Given the description of an element on the screen output the (x, y) to click on. 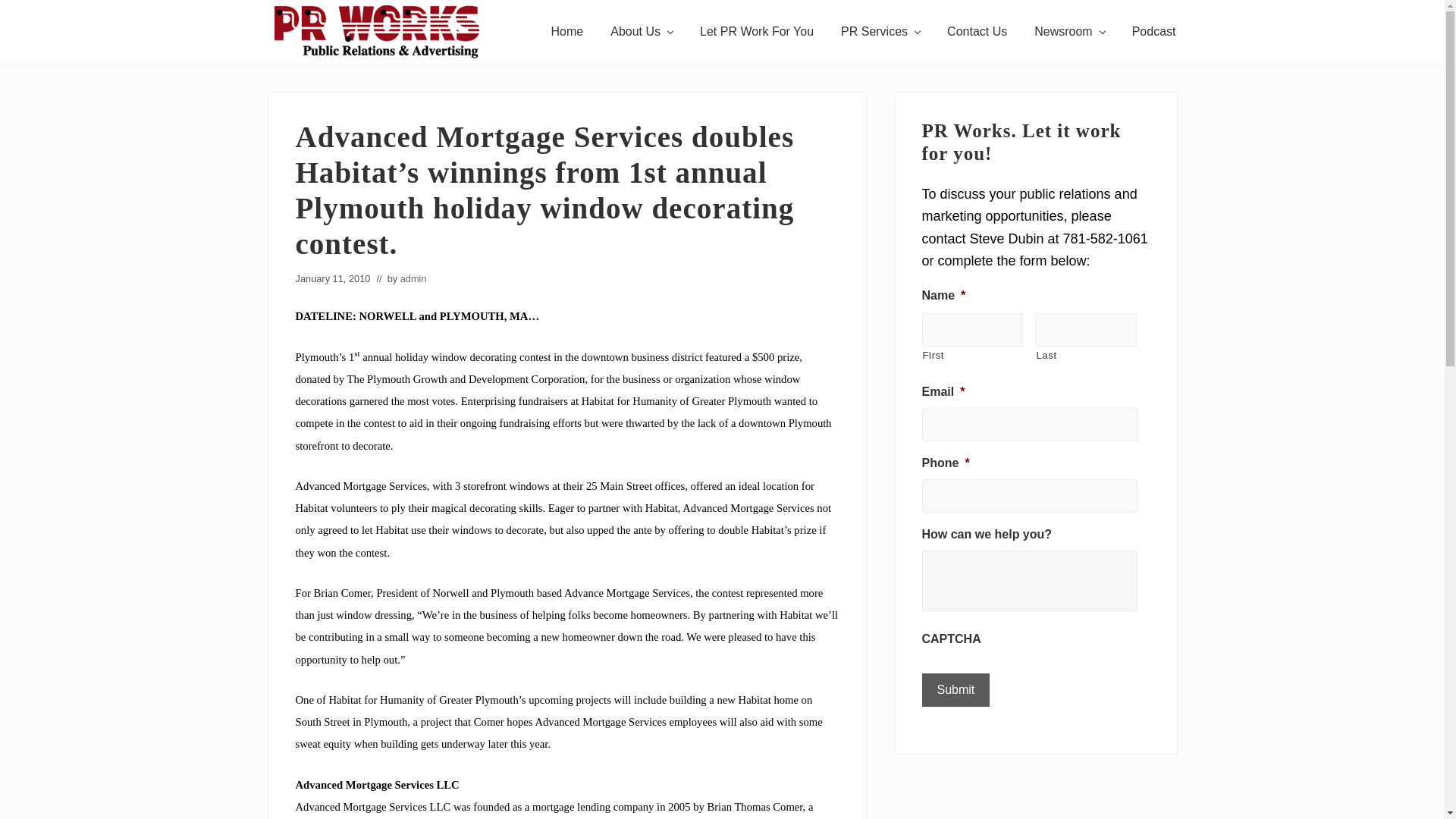
Submit (955, 689)
Let PR Work For You (756, 31)
Home (566, 31)
PR Services (879, 31)
Newsroom (1069, 31)
Contact Us (976, 31)
About Us (641, 31)
